Given the description of an element on the screen output the (x, y) to click on. 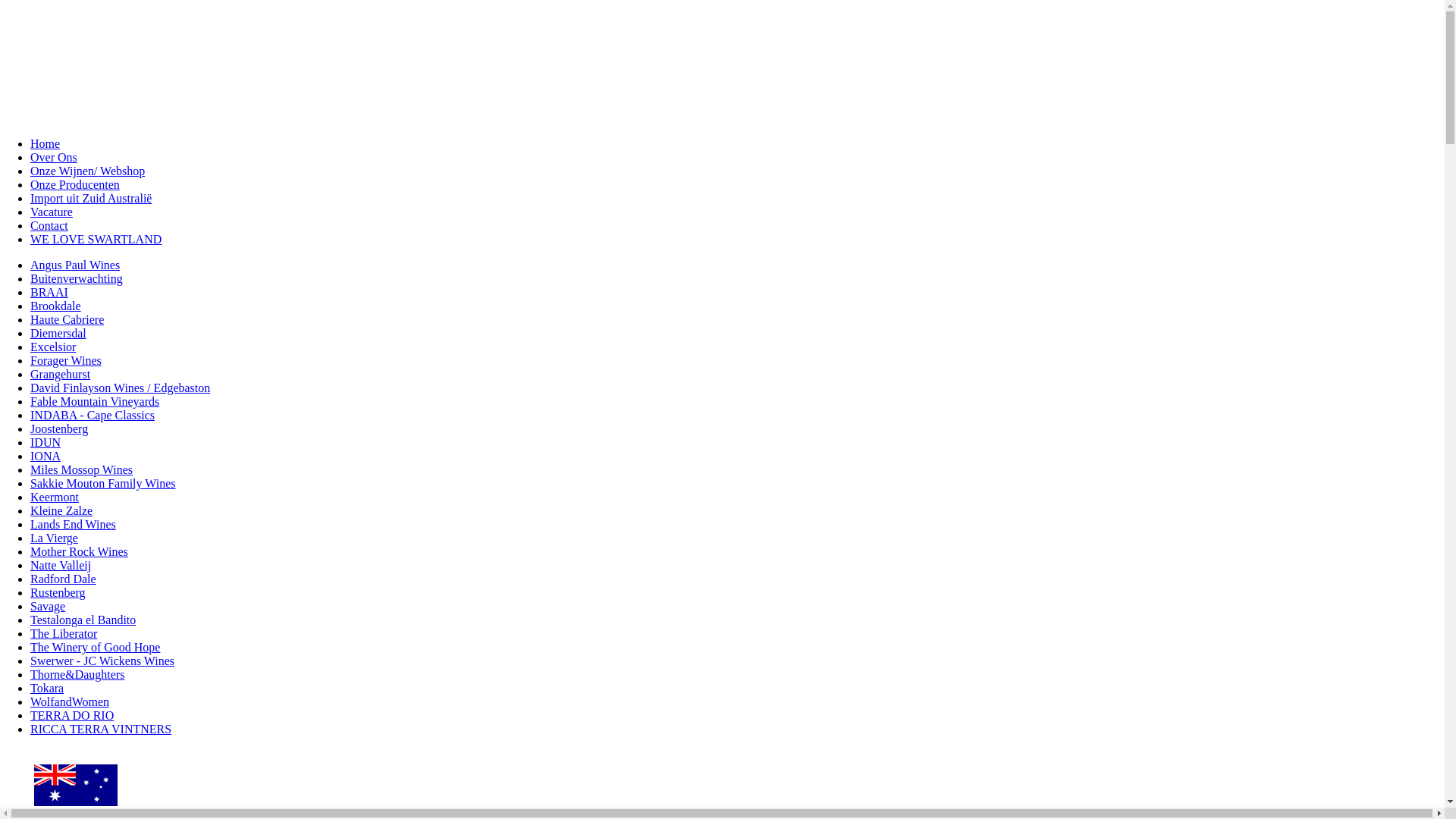
RICCA TERRA VINTNERS Element type: text (100, 728)
Over Ons Element type: text (53, 156)
The Liberator Element type: text (63, 633)
Radford Dale Element type: text (63, 578)
WolfandWomen Element type: text (69, 701)
Brookdale Element type: text (55, 305)
Swerwer - JC Wickens Wines Element type: text (102, 660)
WE LOVE SWARTLAND Element type: text (95, 238)
Tokara Element type: text (46, 687)
Excelsior Element type: text (52, 346)
TERRA DO RIO Element type: text (71, 715)
Angus Paul Wines Element type: text (74, 264)
Home Element type: text (44, 143)
Sakkie Mouton Family Wines Element type: text (102, 482)
Buitenverwachting Element type: text (76, 278)
Grangehurst Element type: text (60, 373)
Contact Element type: text (49, 225)
The Winery of Good Hope Element type: text (95, 646)
Joostenberg Element type: text (58, 428)
BRAAI Element type: text (49, 291)
Rustenberg Element type: text (57, 592)
Testalonga el Bandito Element type: text (82, 619)
IDUN Element type: text (45, 442)
IONA Element type: text (45, 455)
Mother Rock Wines Element type: text (79, 551)
David Finlayson Wines / Edgebaston Element type: text (120, 387)
Natte Valleij Element type: text (60, 564)
Savage Element type: text (47, 605)
INDABA - Cape Classics Element type: text (92, 414)
Onze Producenten Element type: text (74, 184)
Lands End Wines Element type: text (73, 523)
Diemersdal Element type: text (58, 332)
Forager Wines Element type: text (65, 360)
Fable Mountain Vineyards Element type: text (94, 401)
Kleine Zalze Element type: text (61, 510)
Thorne&Daughters Element type: text (77, 674)
Vacature Element type: text (51, 211)
Haute Cabriere Element type: text (66, 319)
Miles Mossop Wines Element type: text (81, 469)
La Vierge Element type: text (54, 537)
Keermont Element type: text (54, 496)
Onze Wijnen/ Webshop Element type: text (87, 170)
